Given the description of an element on the screen output the (x, y) to click on. 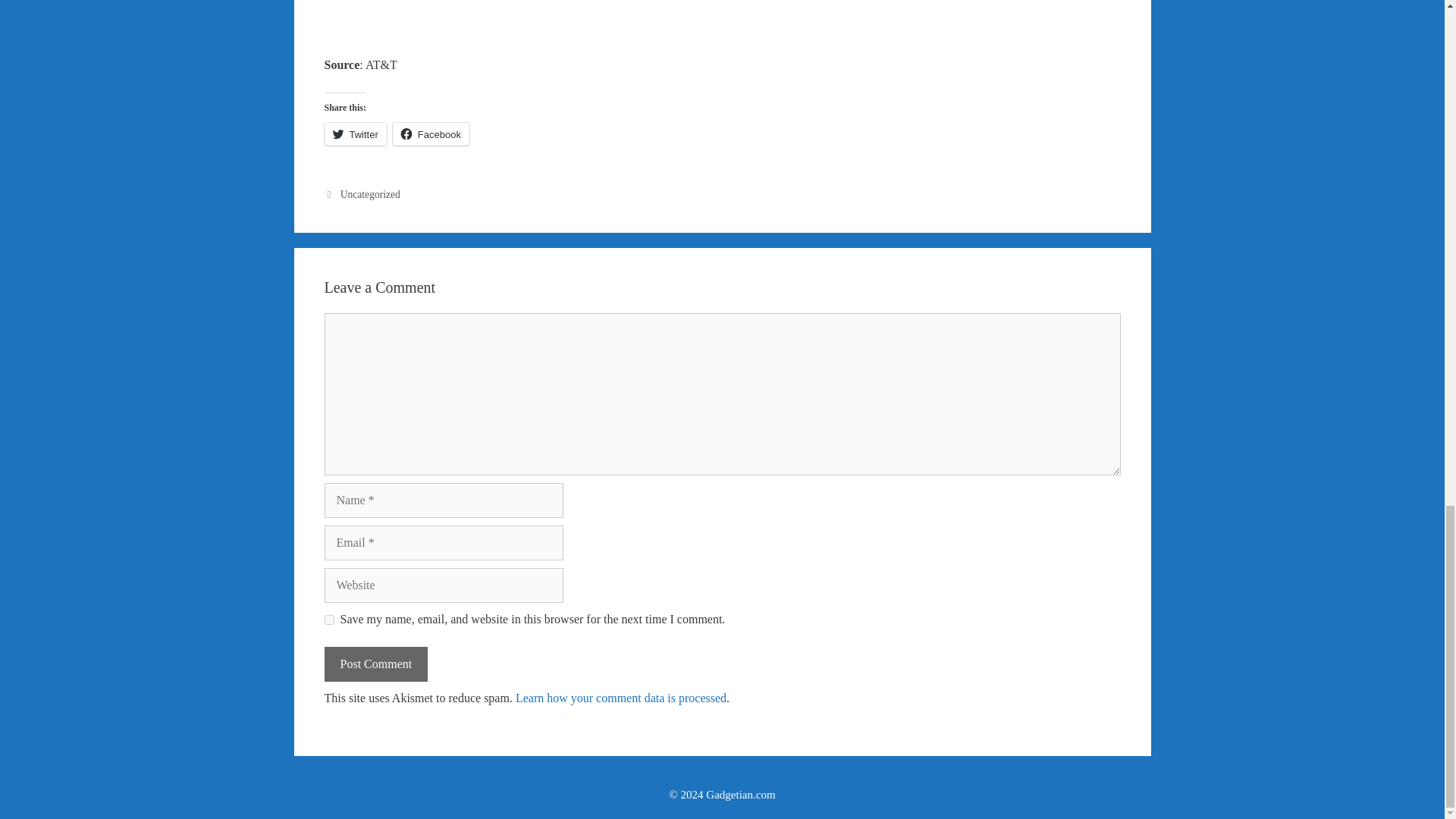
Click to share on Facebook (430, 133)
Facebook (430, 133)
Scroll back to top (1406, 196)
yes (329, 619)
Learn how your comment data is processed (620, 697)
Uncategorized (370, 194)
Sony Tablet P (722, 16)
Post Comment (376, 664)
Post Comment (376, 664)
Click to share on Twitter (355, 133)
Twitter (355, 133)
